Given the description of an element on the screen output the (x, y) to click on. 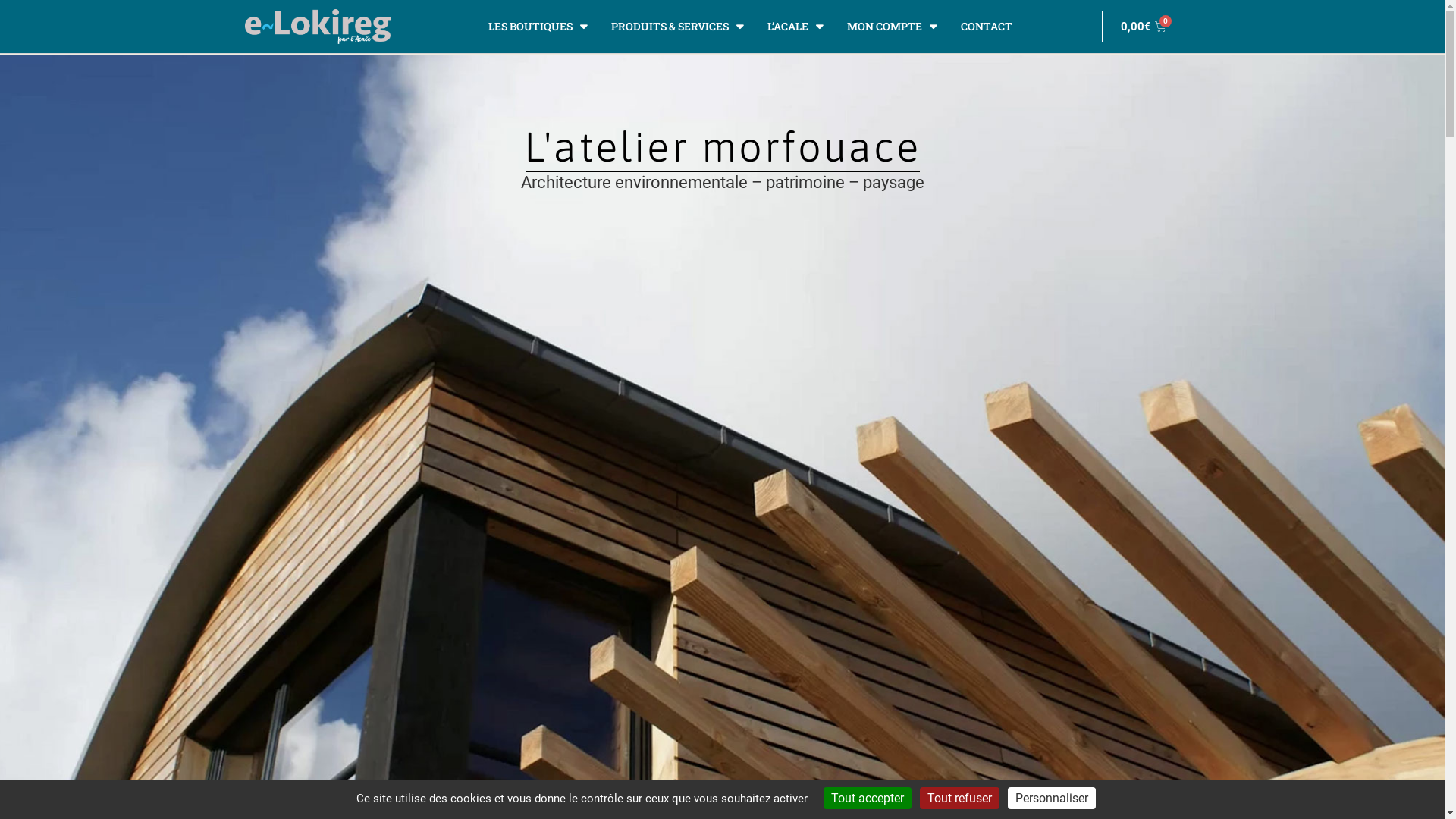
CONTACT Element type: text (986, 26)
MON COMPTE Element type: text (891, 26)
PRODUITS & SERVICES Element type: text (677, 26)
LES BOUTIQUES Element type: text (537, 26)
